Given the description of an element on the screen output the (x, y) to click on. 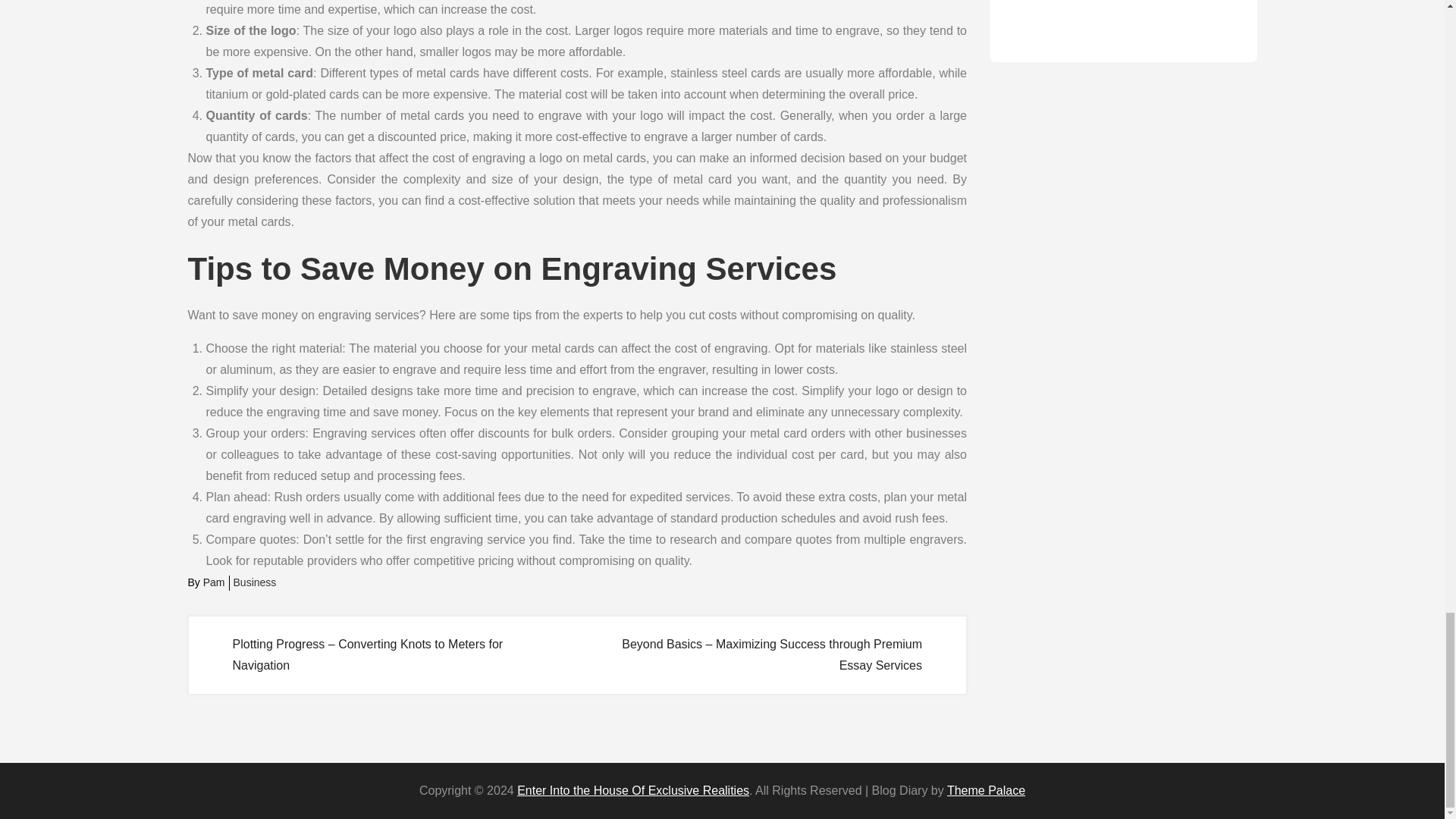
Business (254, 582)
Theme Palace (986, 789)
Enter Into the House Of Exclusive Realities (632, 789)
Pam (214, 582)
